Given the description of an element on the screen output the (x, y) to click on. 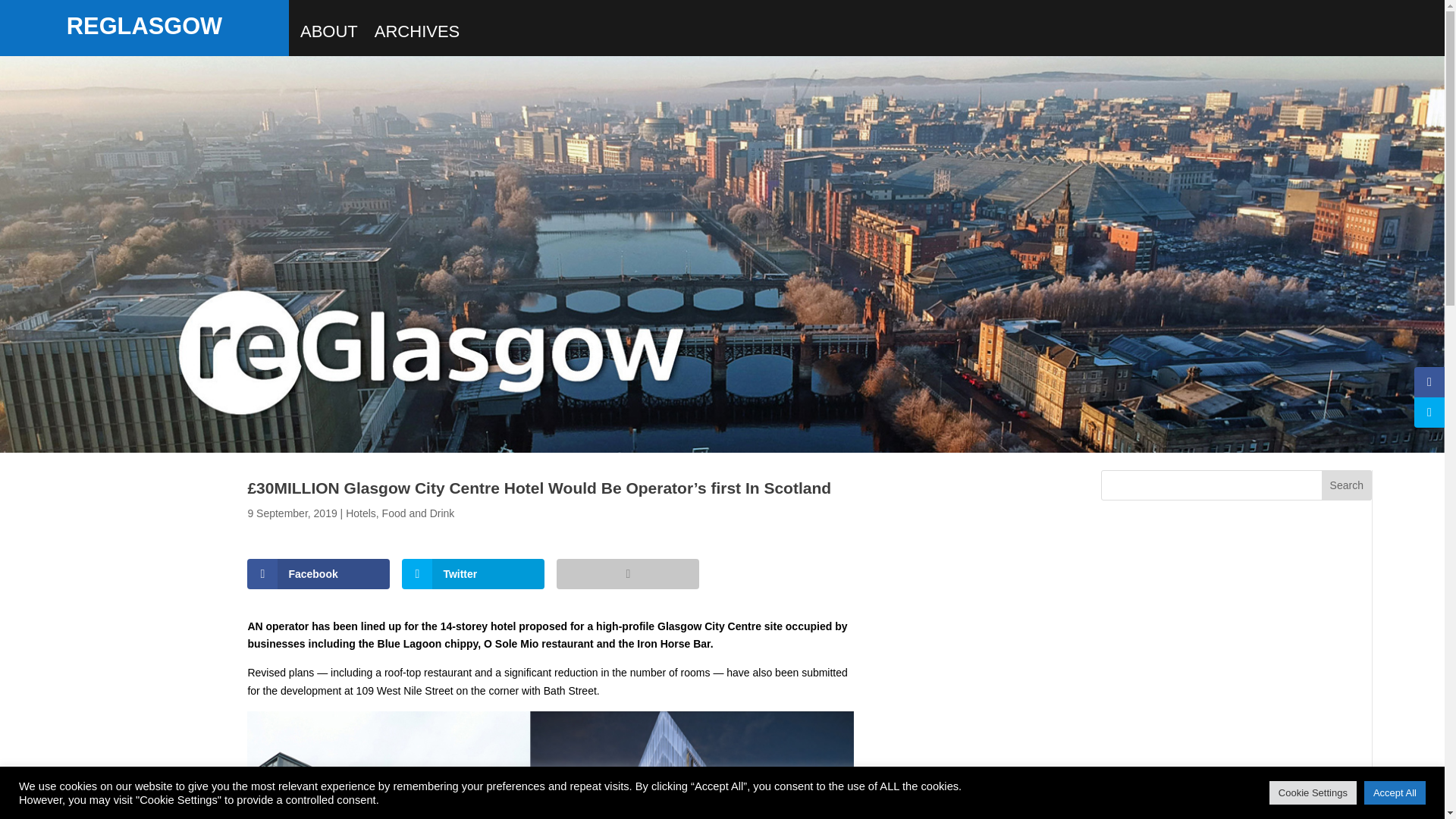
Food and Drink (417, 512)
ARCHIVES (417, 34)
Search (1346, 485)
Advertisement (1235, 684)
Hotels (360, 512)
Facebook (318, 573)
ABOUT (328, 34)
Search (1346, 485)
Twitter (472, 573)
